Given the description of an element on the screen output the (x, y) to click on. 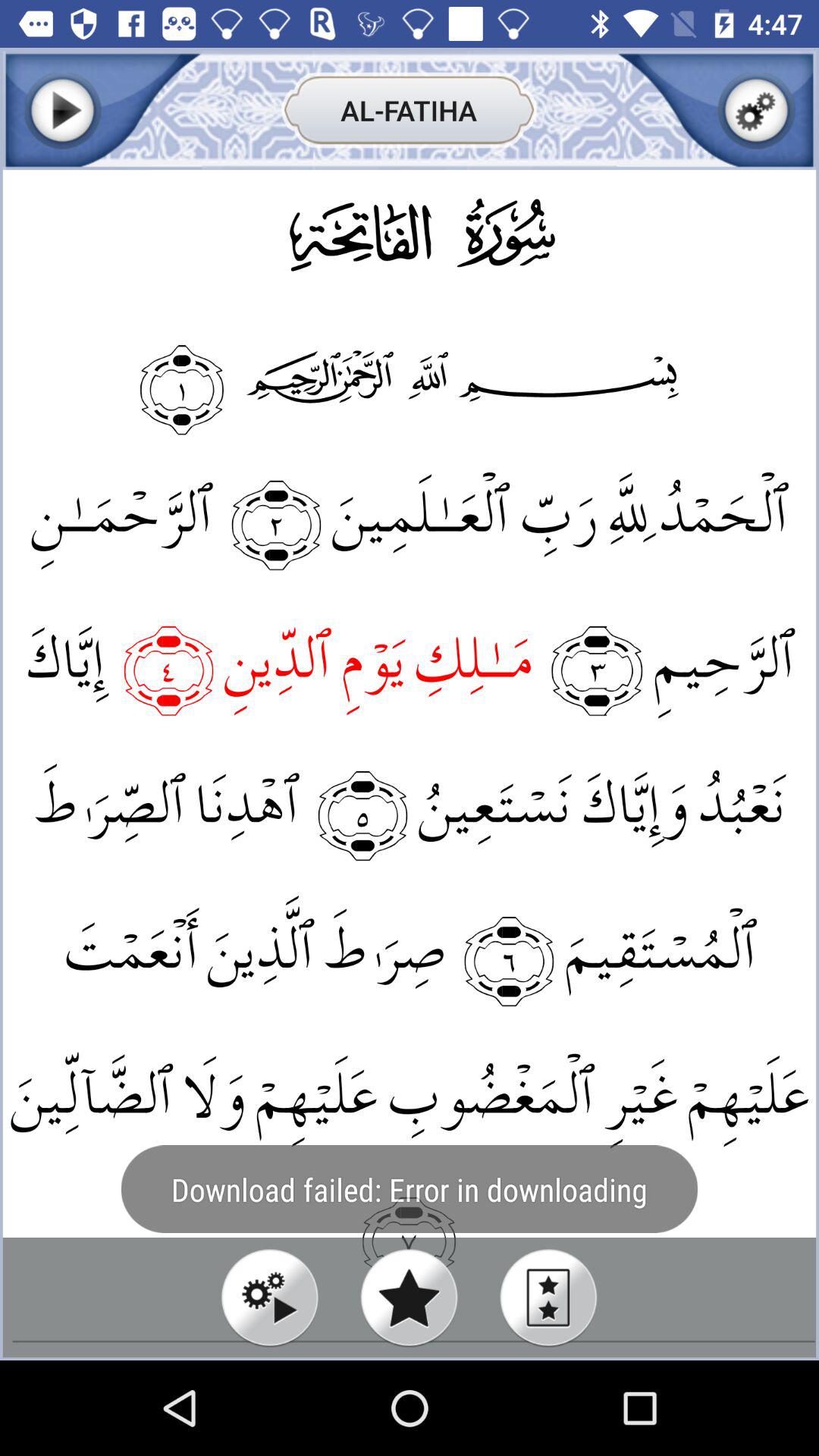
add this to favorites (408, 1297)
